Given the description of an element on the screen output the (x, y) to click on. 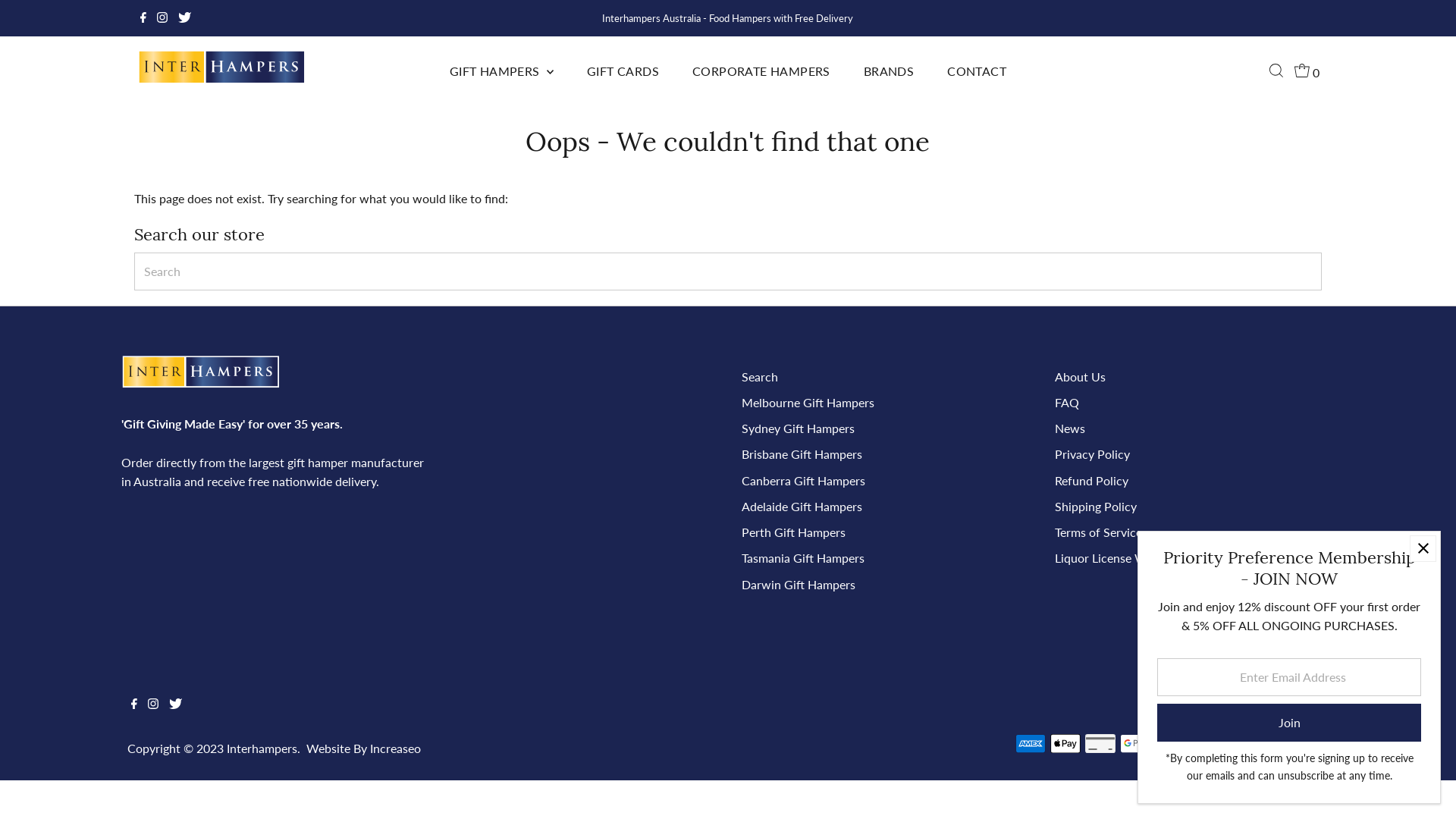
CORPORATE HAMPERS Element type: text (761, 70)
Liquor License Warning Element type: text (1116, 557)
Tasmania Gift Hampers Element type: text (802, 557)
About Us Element type: text (1079, 376)
Darwin Gift Hampers Element type: text (798, 584)
GIFT CARDS Element type: text (622, 70)
Refund Policy Element type: text (1091, 480)
Perth Gift Hampers Element type: text (793, 531)
Join Element type: text (1289, 722)
Website By Increaseo Element type: text (363, 747)
Adelaide Gift Hampers Element type: text (801, 505)
Shipping Policy Element type: text (1095, 505)
Sydney Gift Hampers Element type: text (797, 427)
FAQ Element type: text (1066, 402)
Brisbane Gift Hampers Element type: text (801, 453)
Privacy Policy Element type: text (1091, 453)
Search Element type: text (759, 376)
Terms of Service Element type: text (1098, 531)
CONTACT Element type: text (976, 70)
Canberra Gift Hampers Element type: text (803, 480)
News Element type: text (1069, 427)
BRANDS Element type: text (888, 70)
Melbourne Gift Hampers Element type: text (807, 402)
Interhampers Element type: text (261, 747)
